Given the description of an element on the screen output the (x, y) to click on. 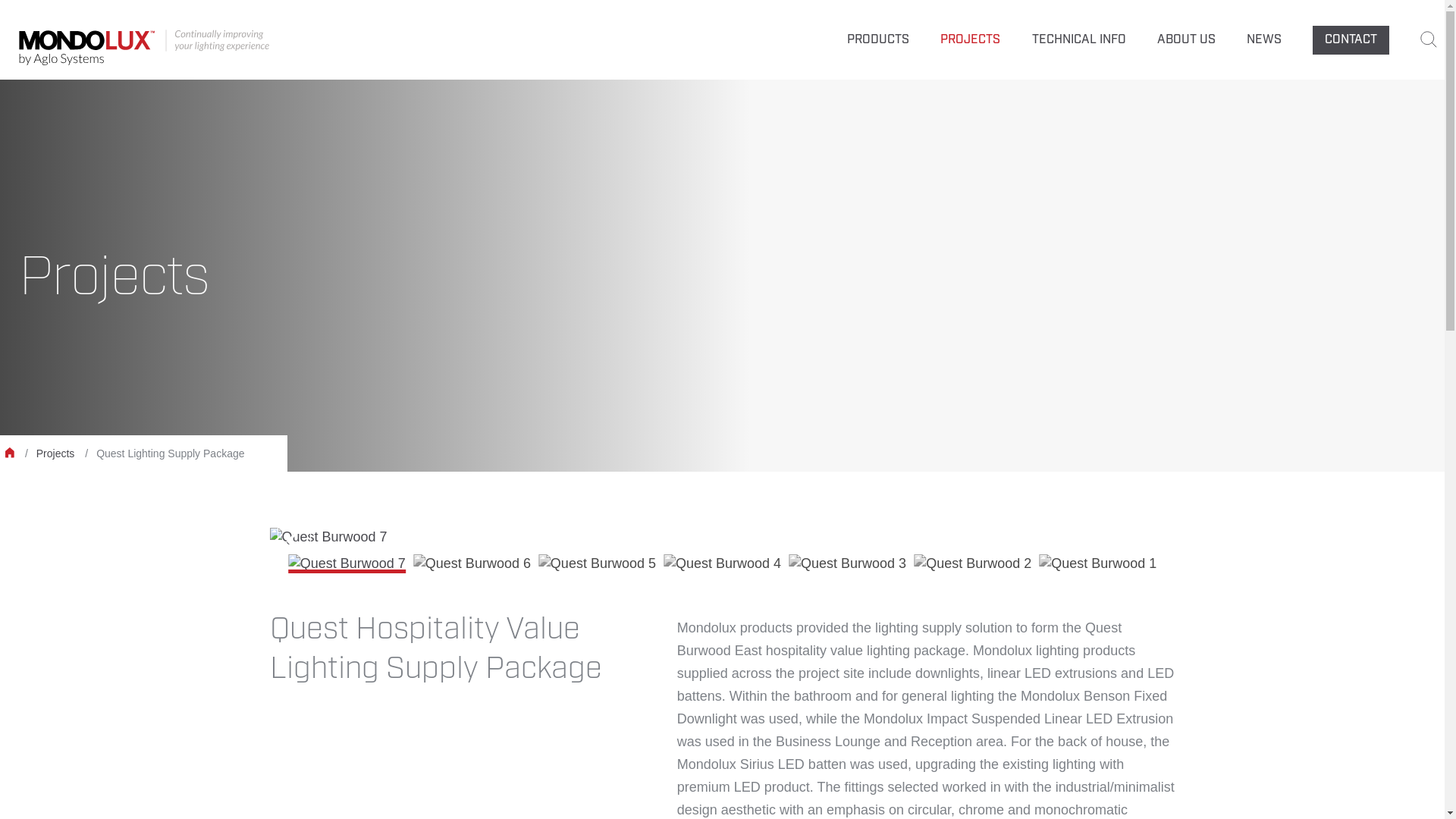
CONTACT Element type: text (1350, 39)
ABOUT US Element type: text (1186, 39)
NEWS Element type: text (1263, 39)
PROJECTS Element type: text (970, 39)
TECHNICAL INFO Element type: text (1079, 39)
Projects Element type: text (55, 453)
PRODUCTS Element type: text (878, 39)
